Given the description of an element on the screen output the (x, y) to click on. 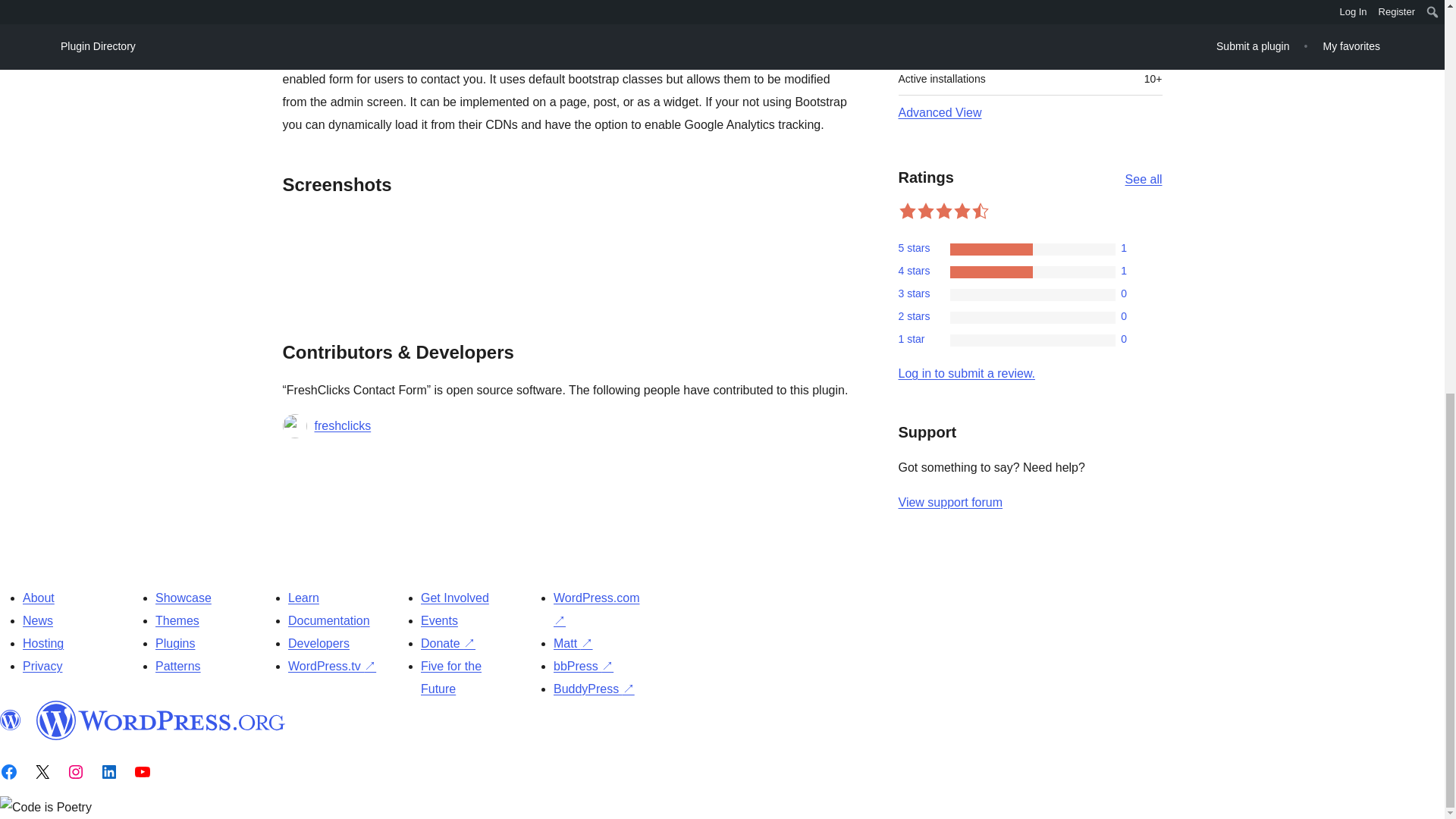
Log in to WordPress.org (966, 373)
WordPress.org (160, 720)
WordPress.org (10, 720)
